Given the description of an element on the screen output the (x, y) to click on. 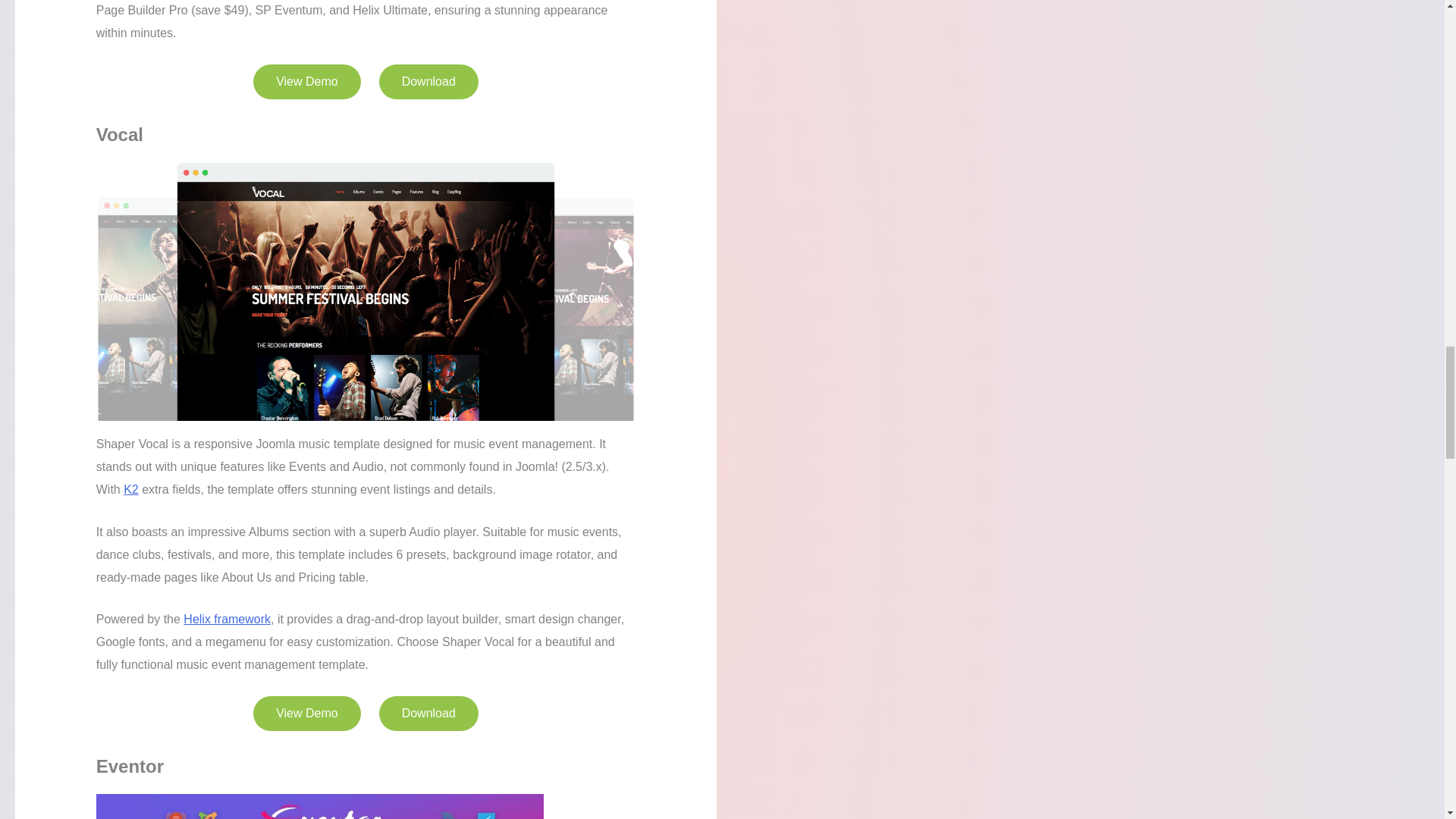
Download (428, 81)
View Demo (307, 713)
Helix framework (226, 618)
K2 (130, 489)
View Demo (307, 81)
Download (428, 713)
